Given the description of an element on the screen output the (x, y) to click on. 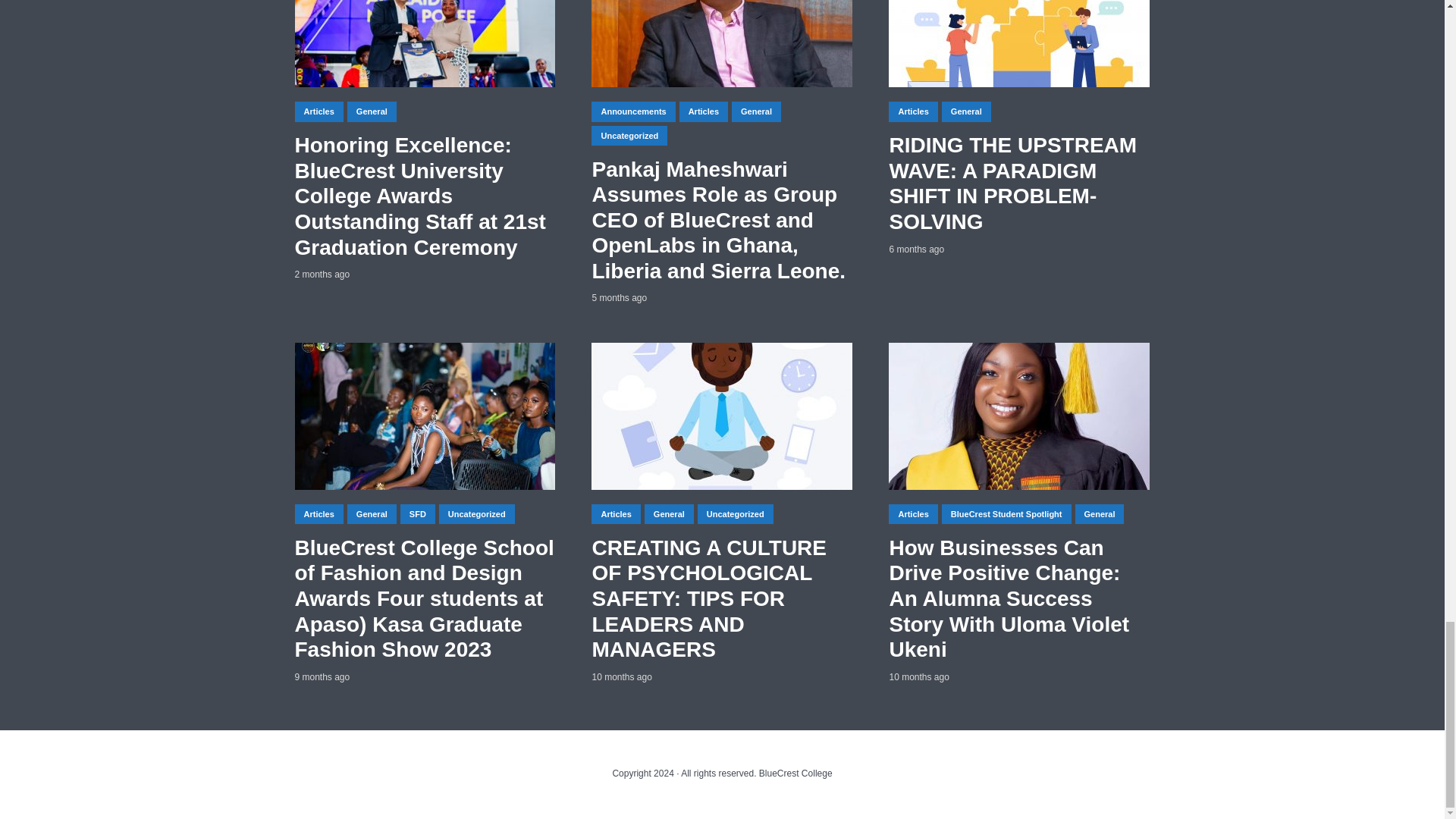
Announcements (633, 111)
General (371, 111)
Articles (318, 111)
